Given the description of an element on the screen output the (x, y) to click on. 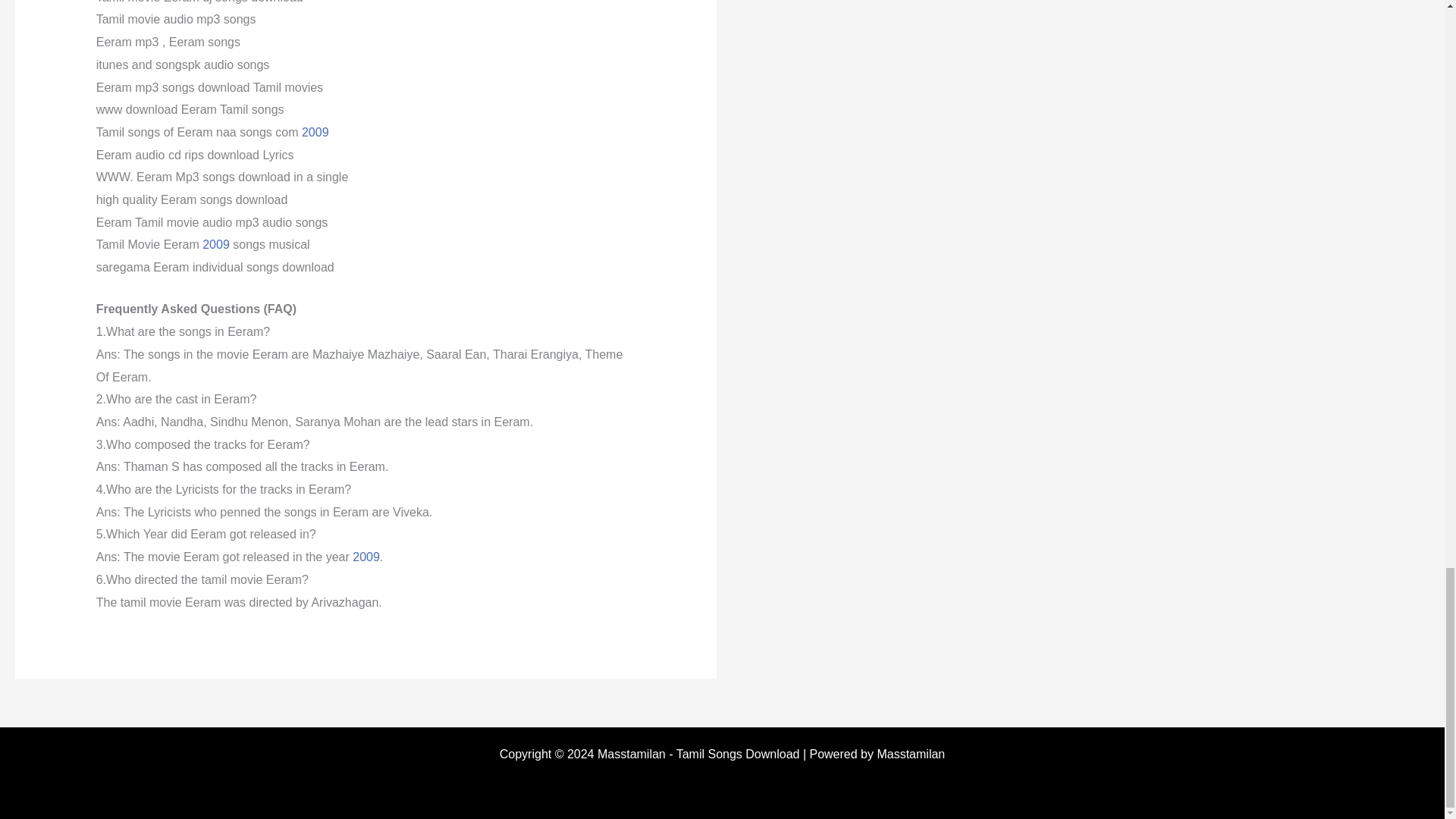
2009 (216, 244)
2009 (315, 132)
2009 (366, 556)
